Given the description of an element on the screen output the (x, y) to click on. 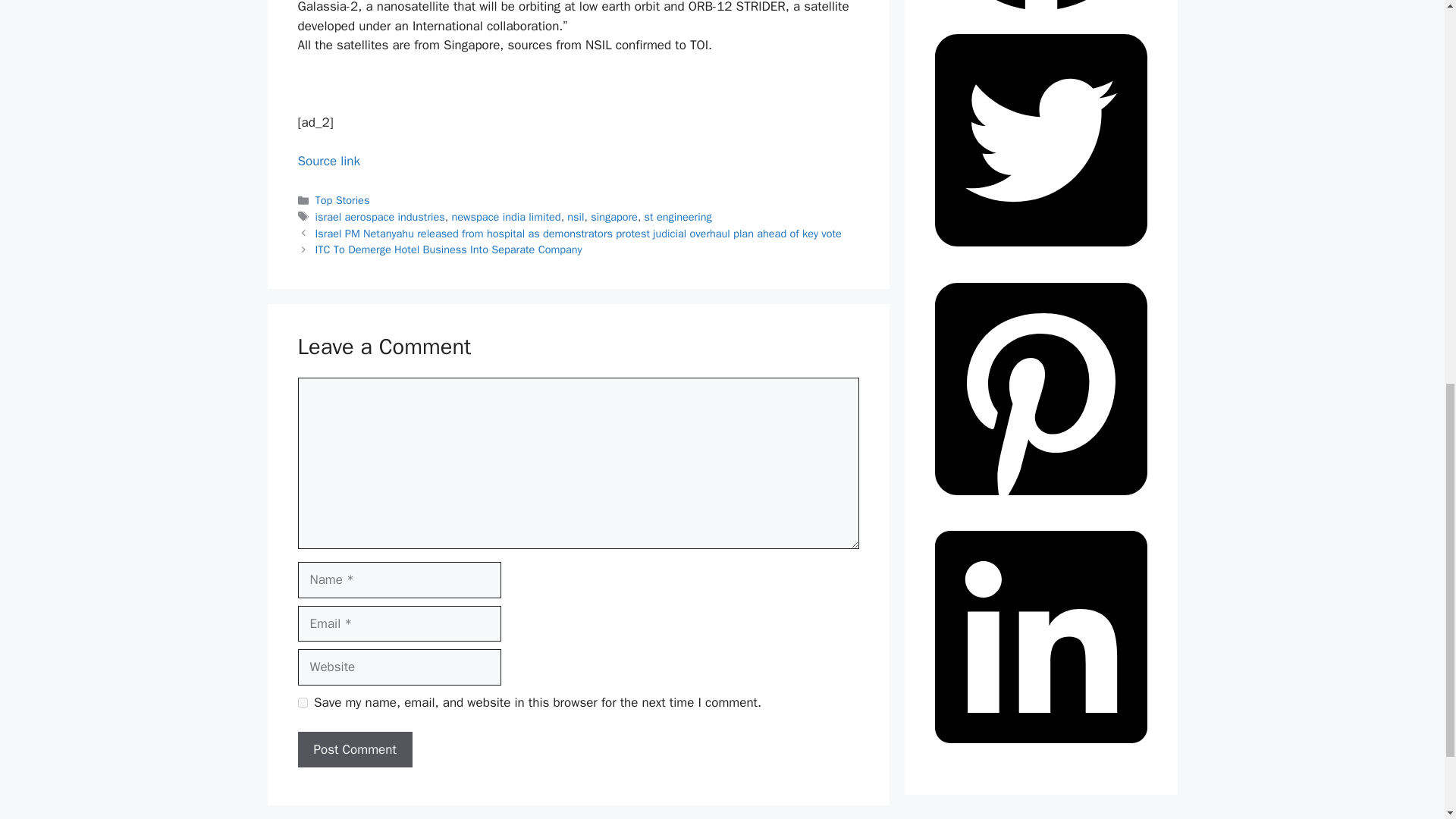
israel aerospace industries (380, 216)
yes (302, 702)
ITC To Demerge Hotel Business Into Separate Company (448, 249)
Post Comment (354, 750)
st engineering (678, 216)
nsil (575, 216)
Top Stories (342, 200)
Source link (328, 160)
newspace india limited (505, 216)
Post Comment (354, 750)
singapore (614, 216)
